Given the description of an element on the screen output the (x, y) to click on. 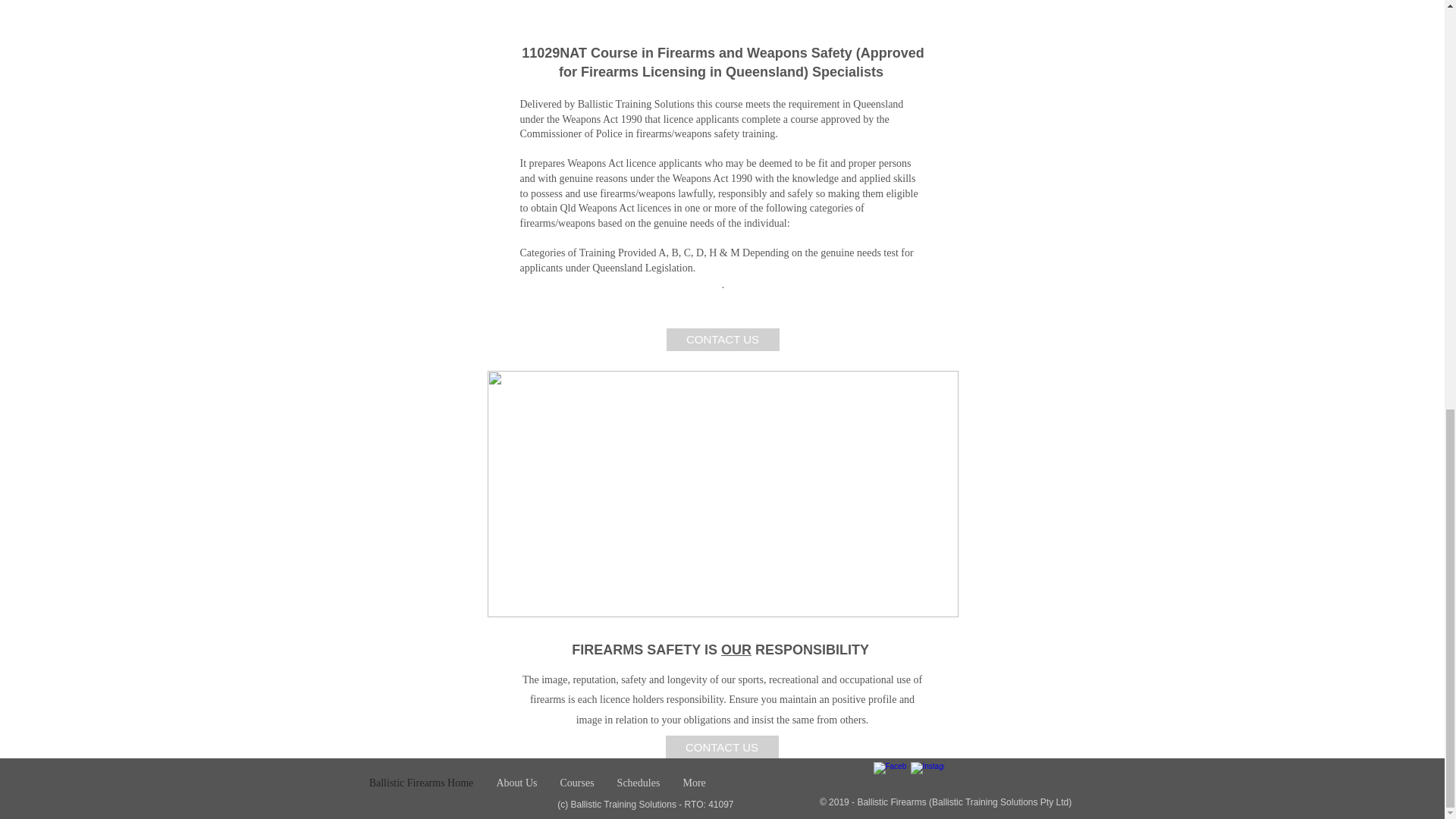
Barrett98B28.jpg (722, 494)
Courses (576, 783)
CONTACT US (721, 746)
CONTACT US (721, 339)
Ballistic Firearms Home (421, 783)
Schedules (638, 783)
About Us (516, 783)
